Given the description of an element on the screen output the (x, y) to click on. 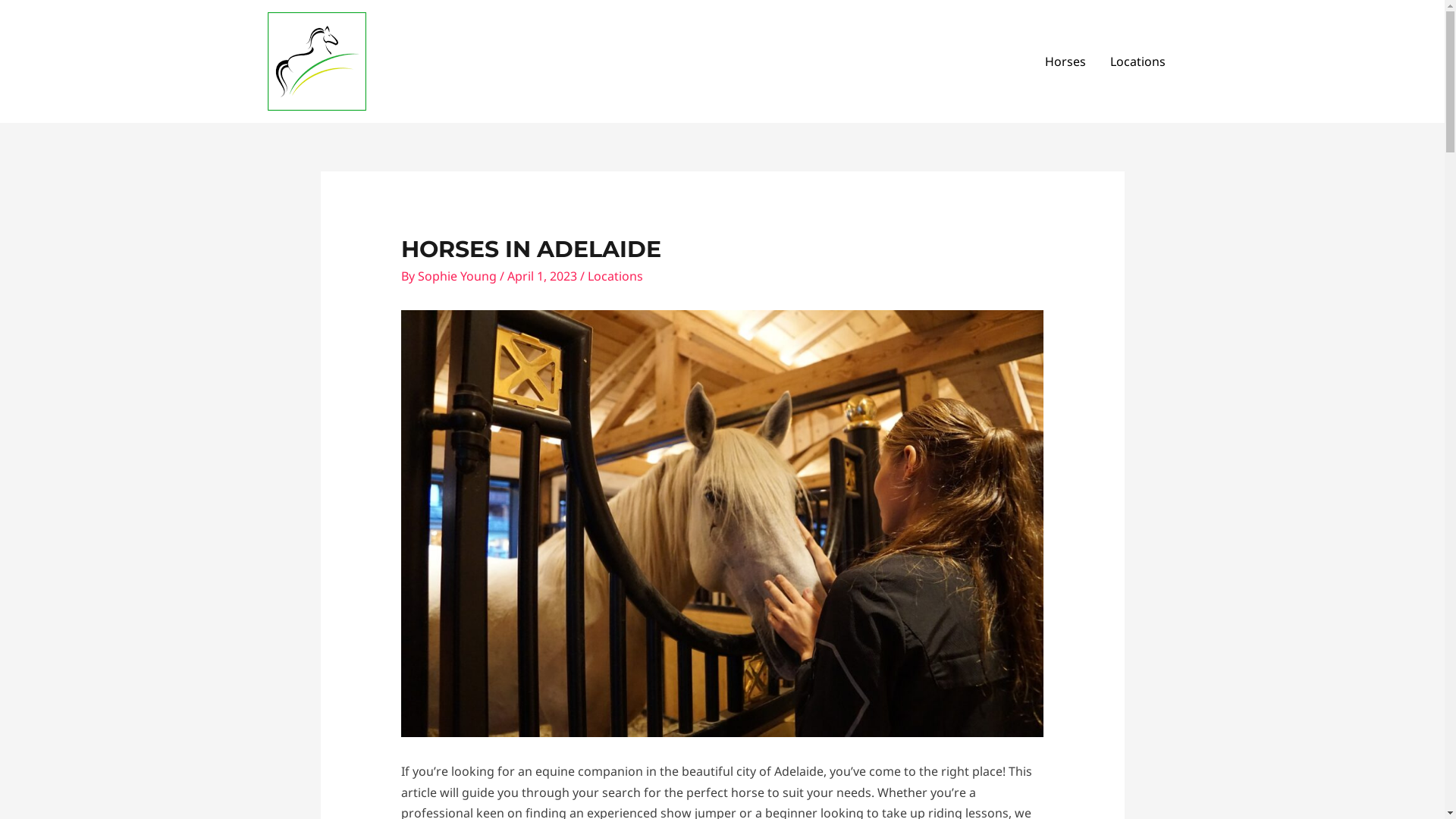
Locations Element type: text (1137, 60)
Locations Element type: text (615, 275)
Horses Element type: text (1065, 60)
Sophie Young Element type: text (458, 275)
